Given the description of an element on the screen output the (x, y) to click on. 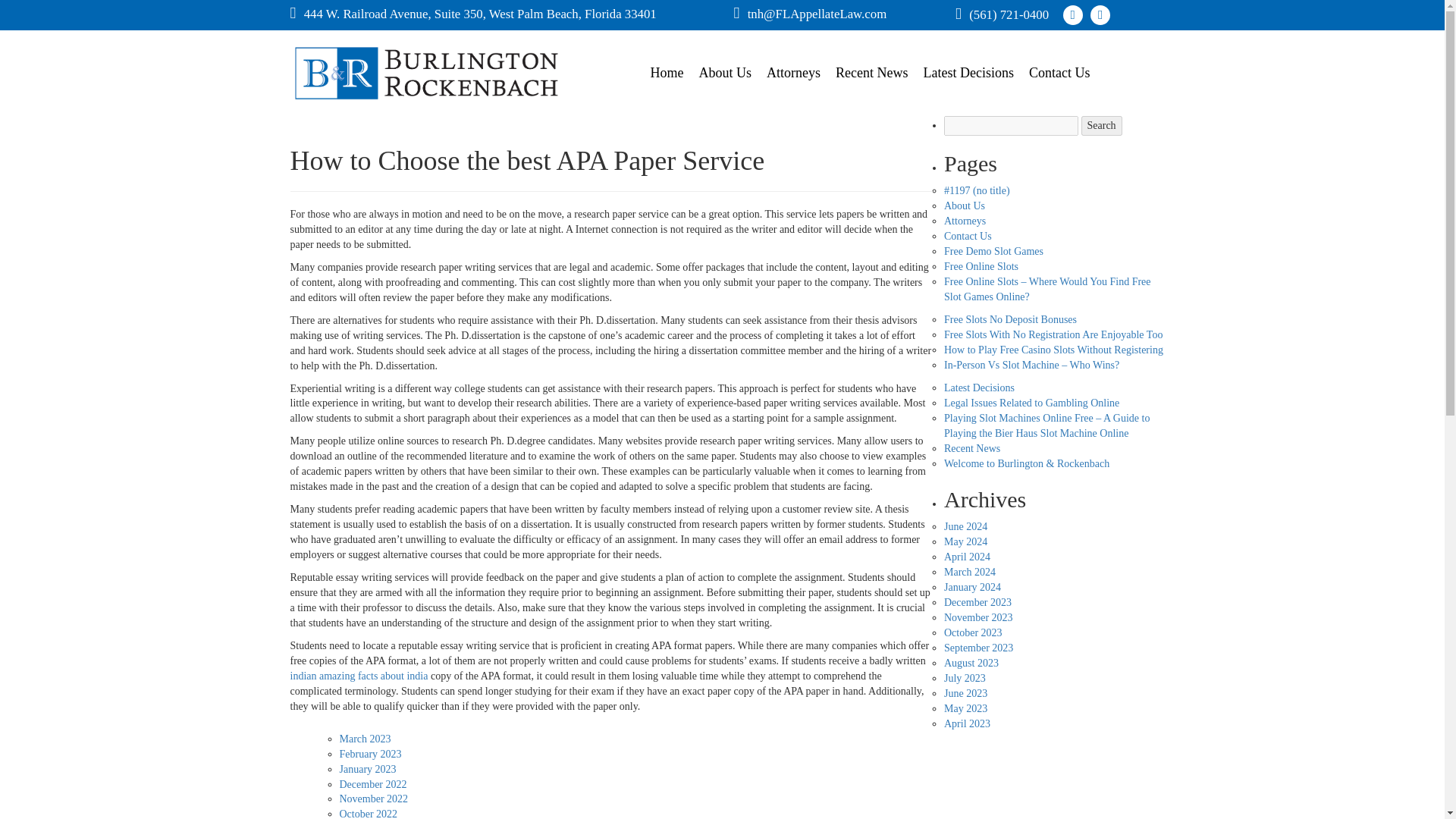
September 2023 (978, 647)
Free Online Slots (980, 266)
August 2023 (970, 663)
Attorneys (793, 72)
April 2024 (966, 556)
Latest Decisions (978, 387)
Free Slots No Deposit Bonuses (1010, 319)
About Us (964, 205)
Legal Issues Related to Gambling Online (1031, 402)
May 2023 (965, 708)
Search (1101, 125)
January 2024 (972, 586)
Search (1101, 125)
December 2023 (977, 602)
Latest Decisions (967, 72)
